Given the description of an element on the screen output the (x, y) to click on. 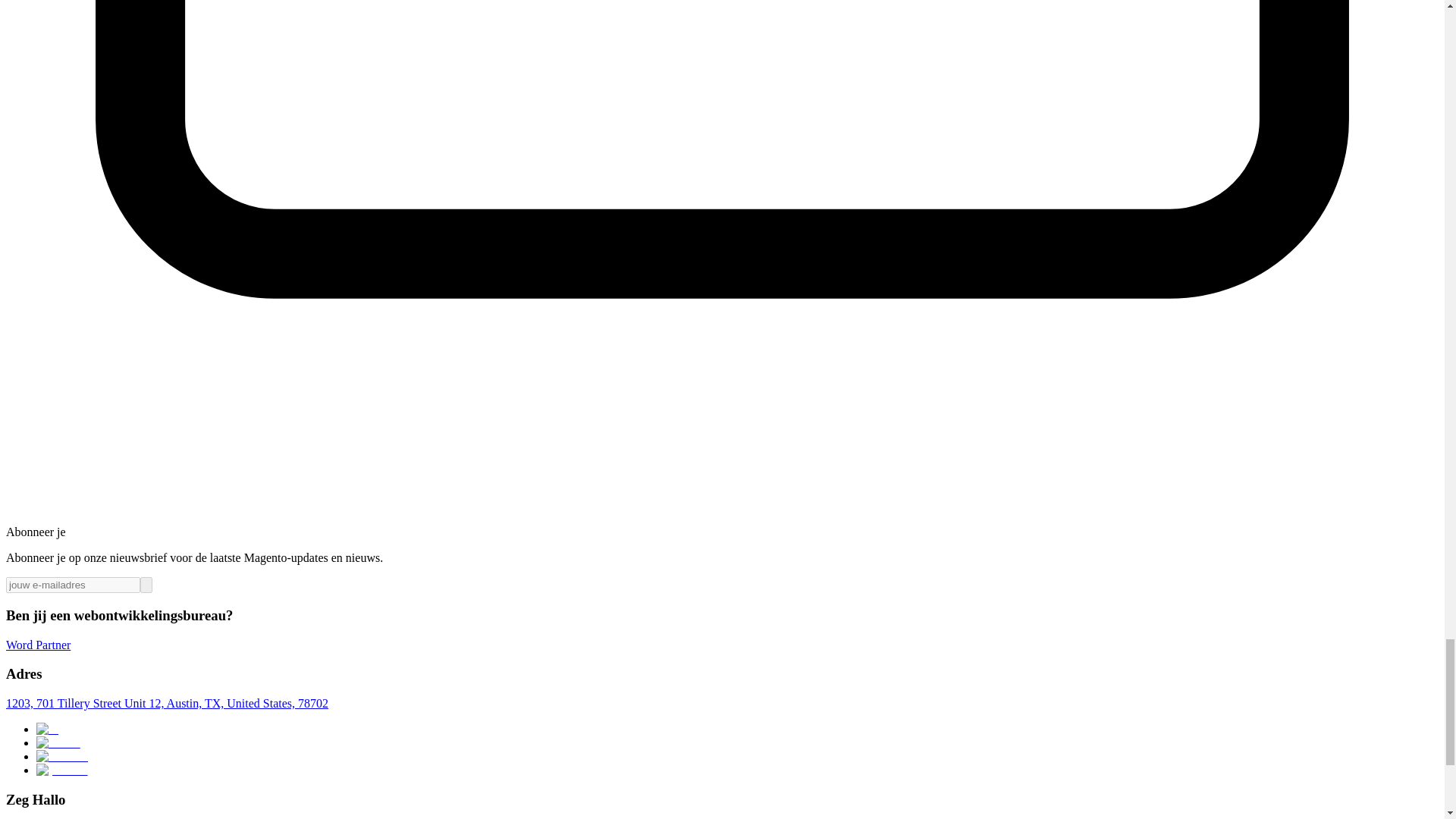
Word Partner (37, 644)
